Given the description of an element on the screen output the (x, y) to click on. 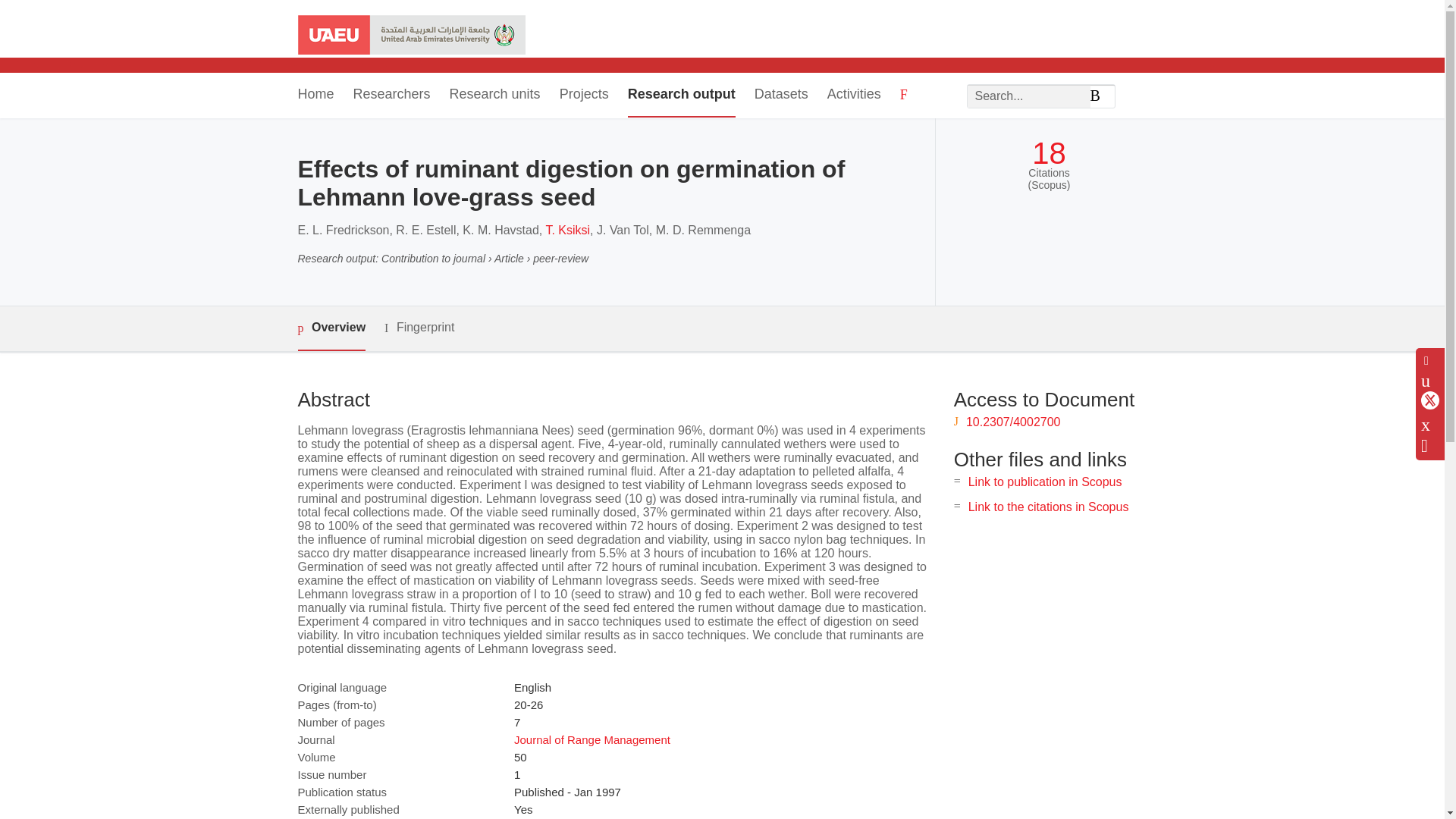
Activities (853, 94)
T. Ksiksi (566, 229)
Researchers (391, 94)
Link to the citations in Scopus (1048, 506)
Research output (681, 94)
Research units (494, 94)
Datasets (781, 94)
Journal of Range Management (591, 739)
United Arab Emirates University Home (410, 36)
18 (1048, 153)
